Given the description of an element on the screen output the (x, y) to click on. 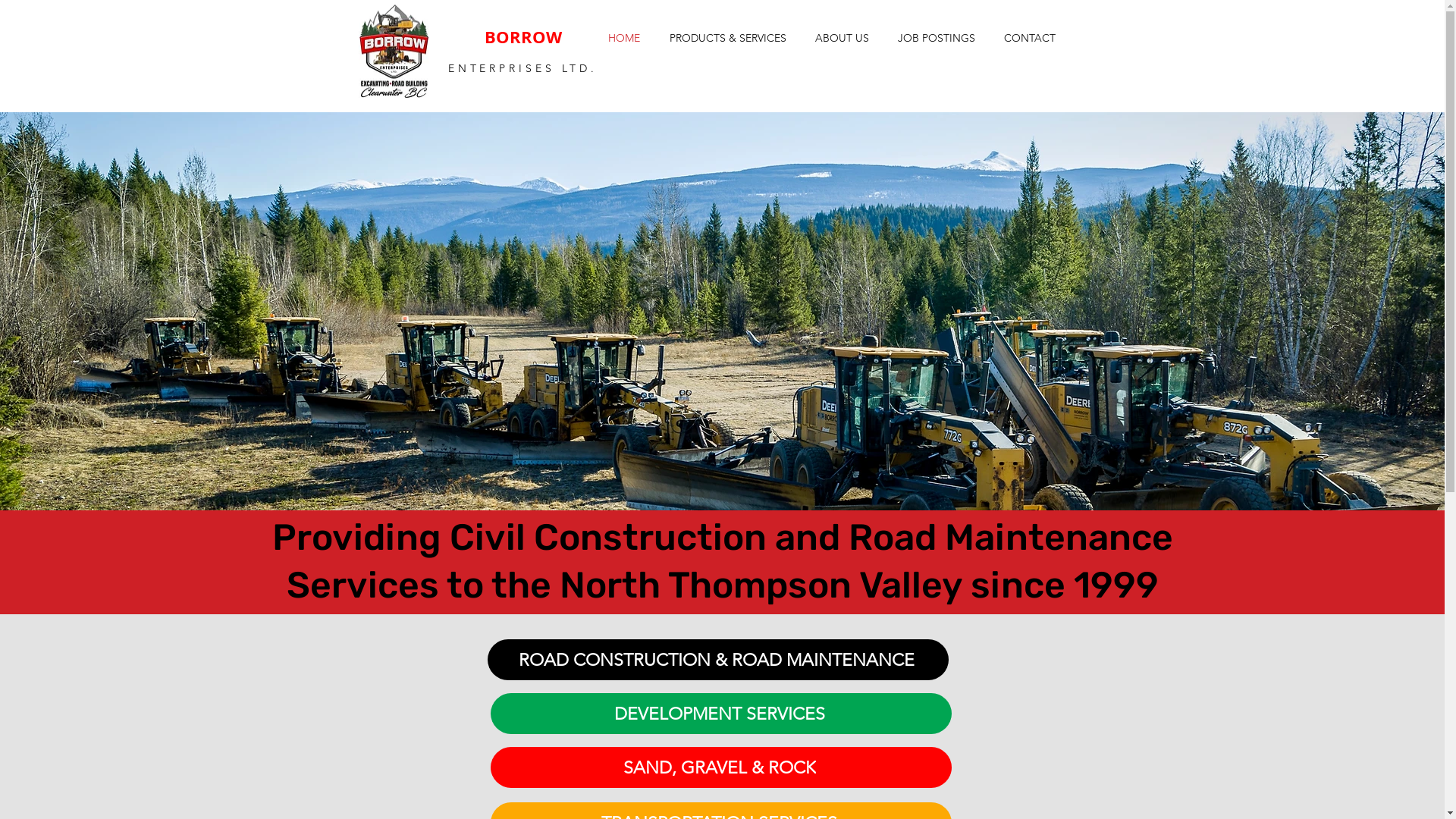
ENTERPRISES LTD. Element type: text (522, 68)
HOME Element type: text (623, 37)
CONTACT Element type: text (1028, 37)
ROAD CONSTRUCTION & ROAD MAINTENANCE Element type: text (716, 659)
BORROW Element type: text (522, 36)
SAND, GRAVEL & ROCK Element type: text (719, 766)
ABOUT US Element type: text (841, 37)
JOB POSTINGS Element type: text (935, 37)
DEVELOPMENT SERVICES Element type: text (719, 713)
